Given the description of an element on the screen output the (x, y) to click on. 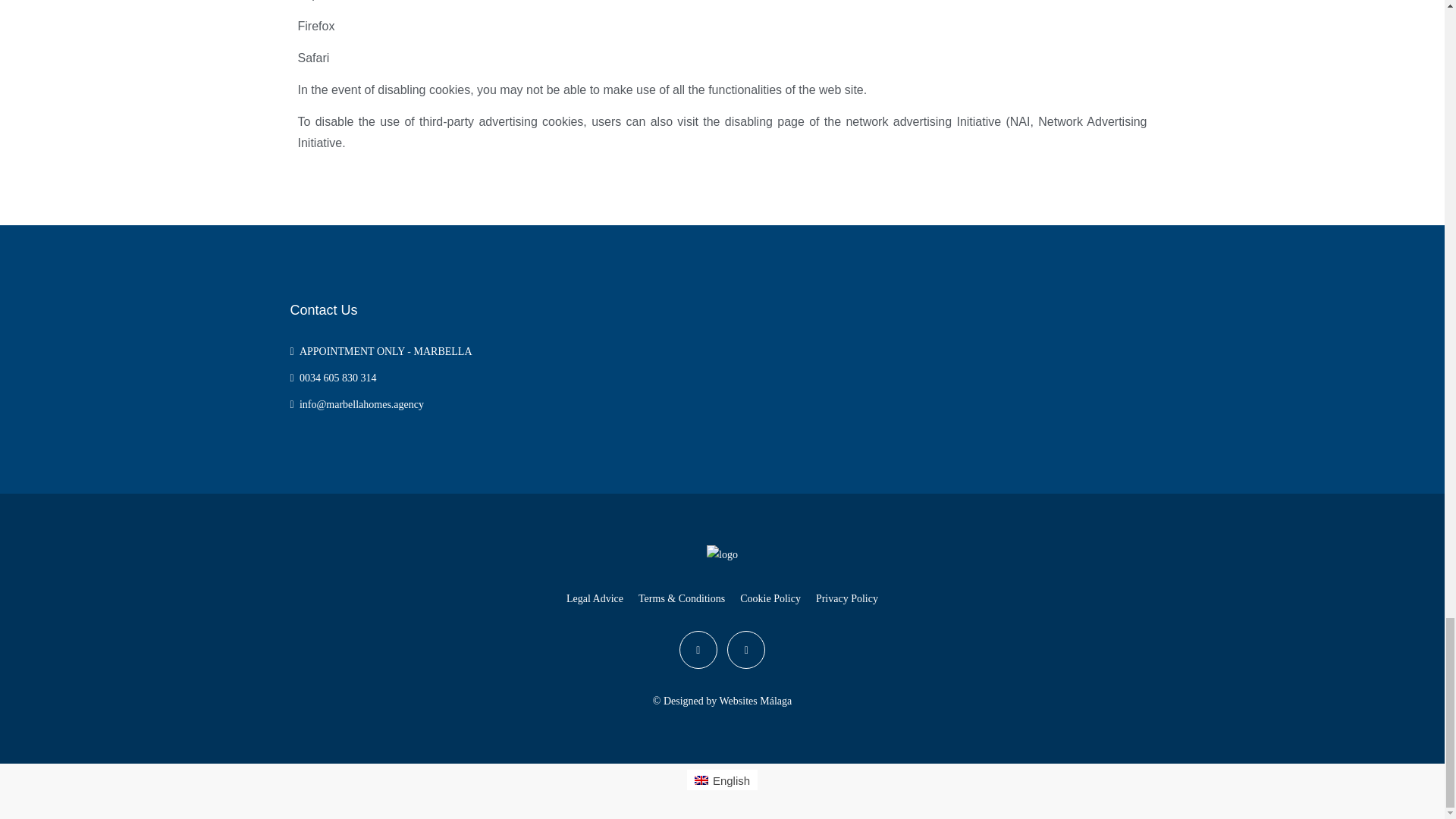
Cookie Policy (769, 598)
Legal Advice (594, 598)
Privacy Policy (846, 598)
